Given the description of an element on the screen output the (x, y) to click on. 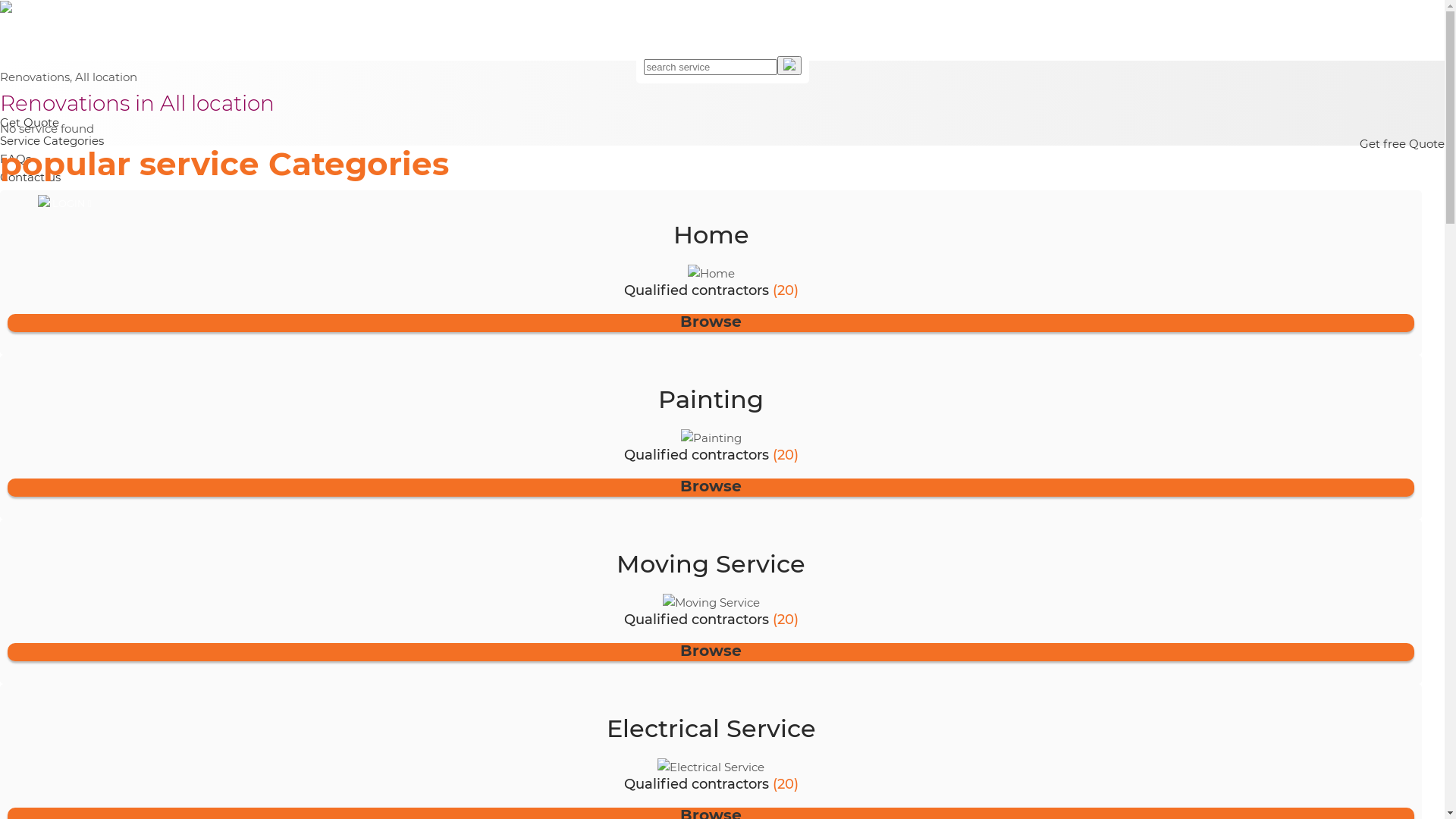
Moving Service Element type: hover (710, 602)
Contact us Element type: text (30, 176)
Browse Element type: text (710, 485)
FAQs Element type: text (15, 158)
Get Quote Element type: text (29, 122)
Browse Element type: text (710, 649)
LOGIN Element type: text (729, 202)
Home Element type: hover (710, 273)
Browse Element type: text (710, 320)
Electrical Service Element type: hover (710, 767)
Service Categories Element type: text (51, 140)
Get free Quote Element type: text (1401, 143)
Painting Element type: hover (710, 438)
